Given the description of an element on the screen output the (x, y) to click on. 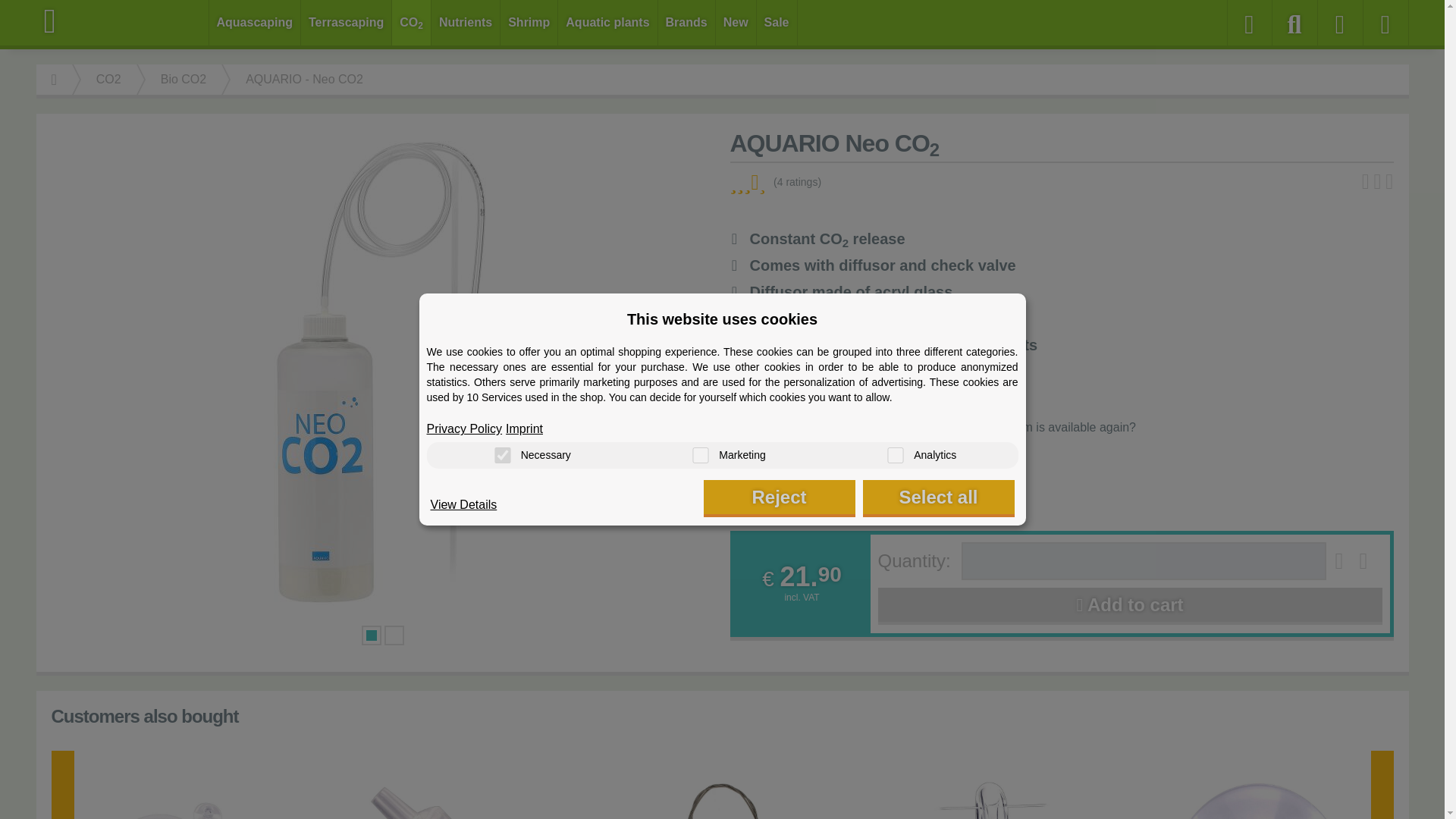
on (501, 455)
on (699, 455)
Aquasabi (123, 21)
Aquascaping (254, 22)
on (895, 455)
